Given the description of an element on the screen output the (x, y) to click on. 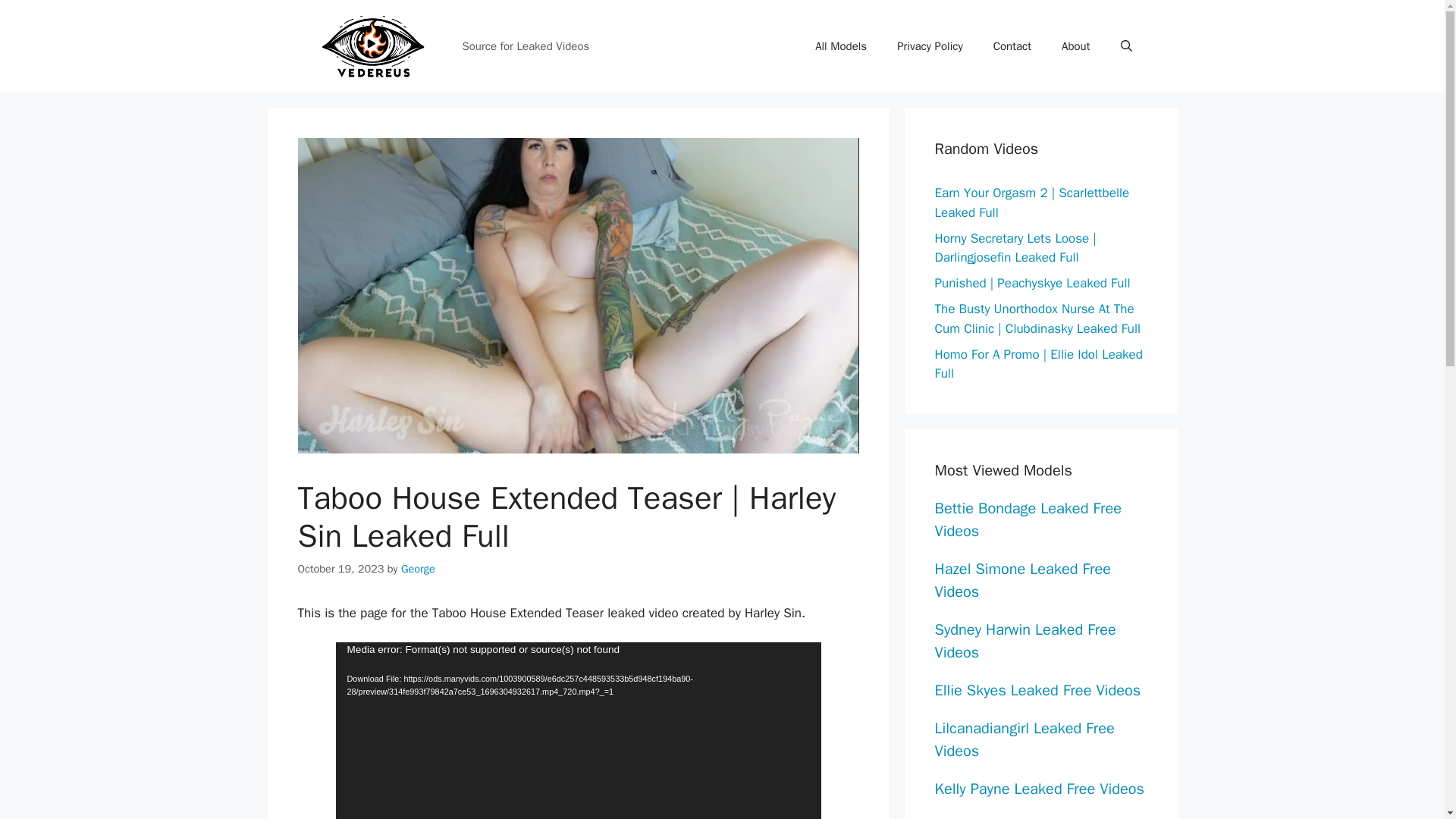
Kelly Payne Leaked Free Videos (1038, 788)
Hazel Simone Leaked Free Videos (1021, 580)
Privacy Policy (930, 45)
Sydney Harwin Leaked Free Videos (1024, 640)
Contact (1012, 45)
View all posts by George (418, 568)
Lilcanadiangirl Leaked Free Videos (1023, 739)
Ellie Skyes Leaked Free Videos (1037, 690)
All Models (840, 45)
Bettie Bondage Leaked Free Videos (1027, 519)
George (418, 568)
About (1075, 45)
